Given the description of an element on the screen output the (x, y) to click on. 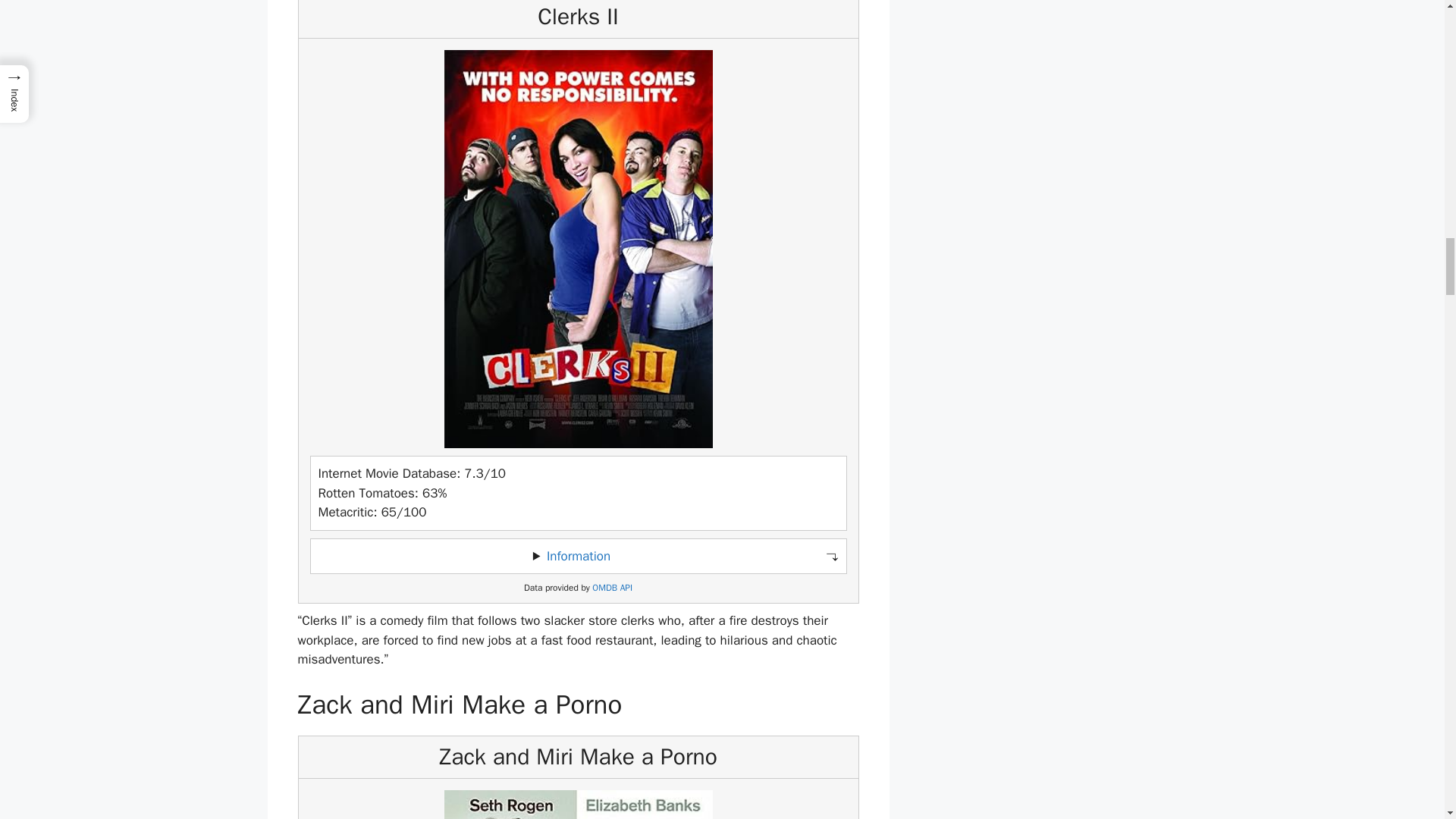
Open Movie Database API (611, 587)
Toggle information (578, 556)
Information (578, 555)
OMDB API (611, 587)
